Given the description of an element on the screen output the (x, y) to click on. 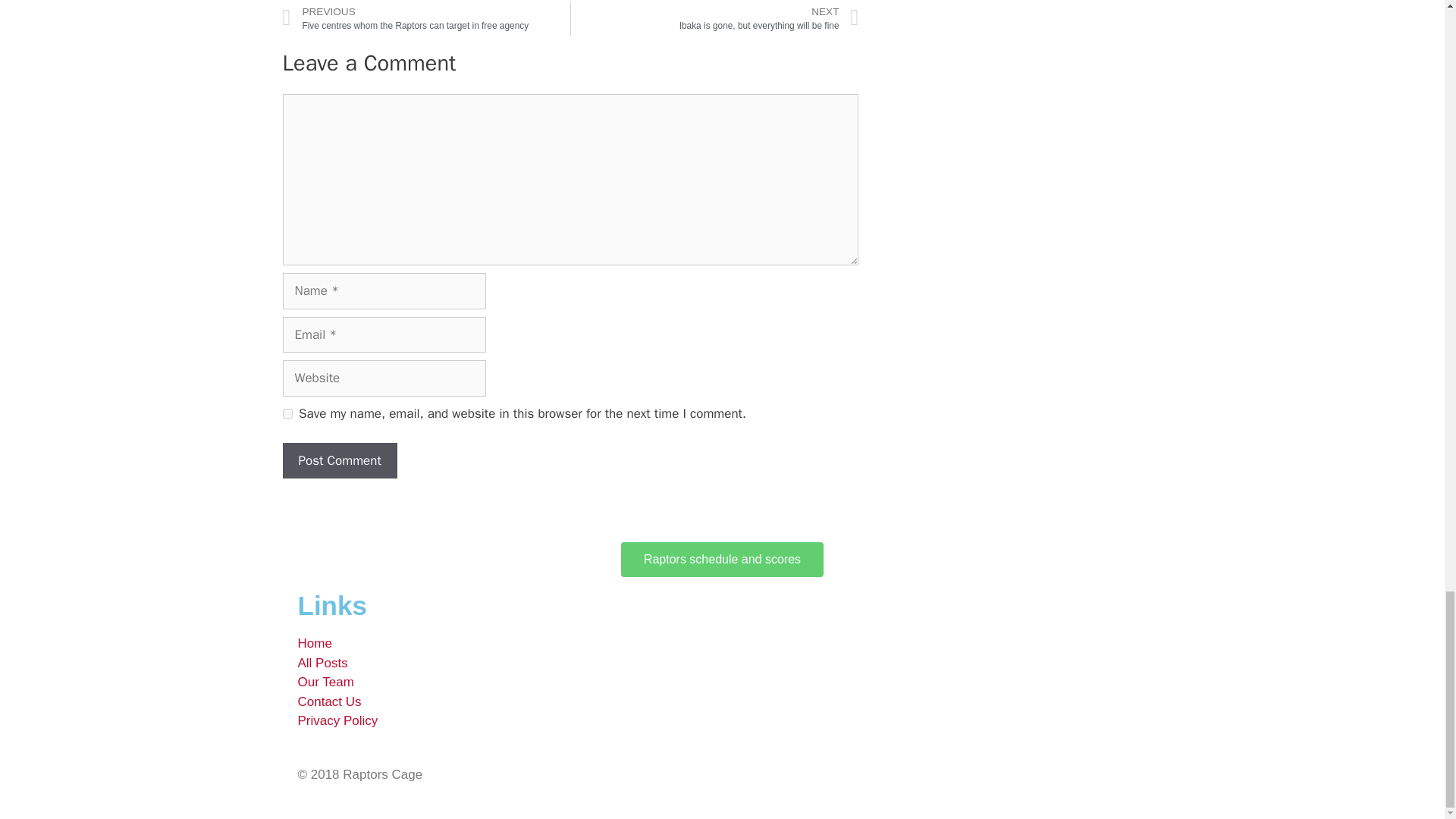
yes (287, 413)
All Posts (322, 663)
Raptors schedule and scores (722, 559)
Post Comment (339, 461)
Post Comment (339, 461)
Our Team (325, 681)
Privacy Policy (337, 720)
Home (314, 643)
